Given the description of an element on the screen output the (x, y) to click on. 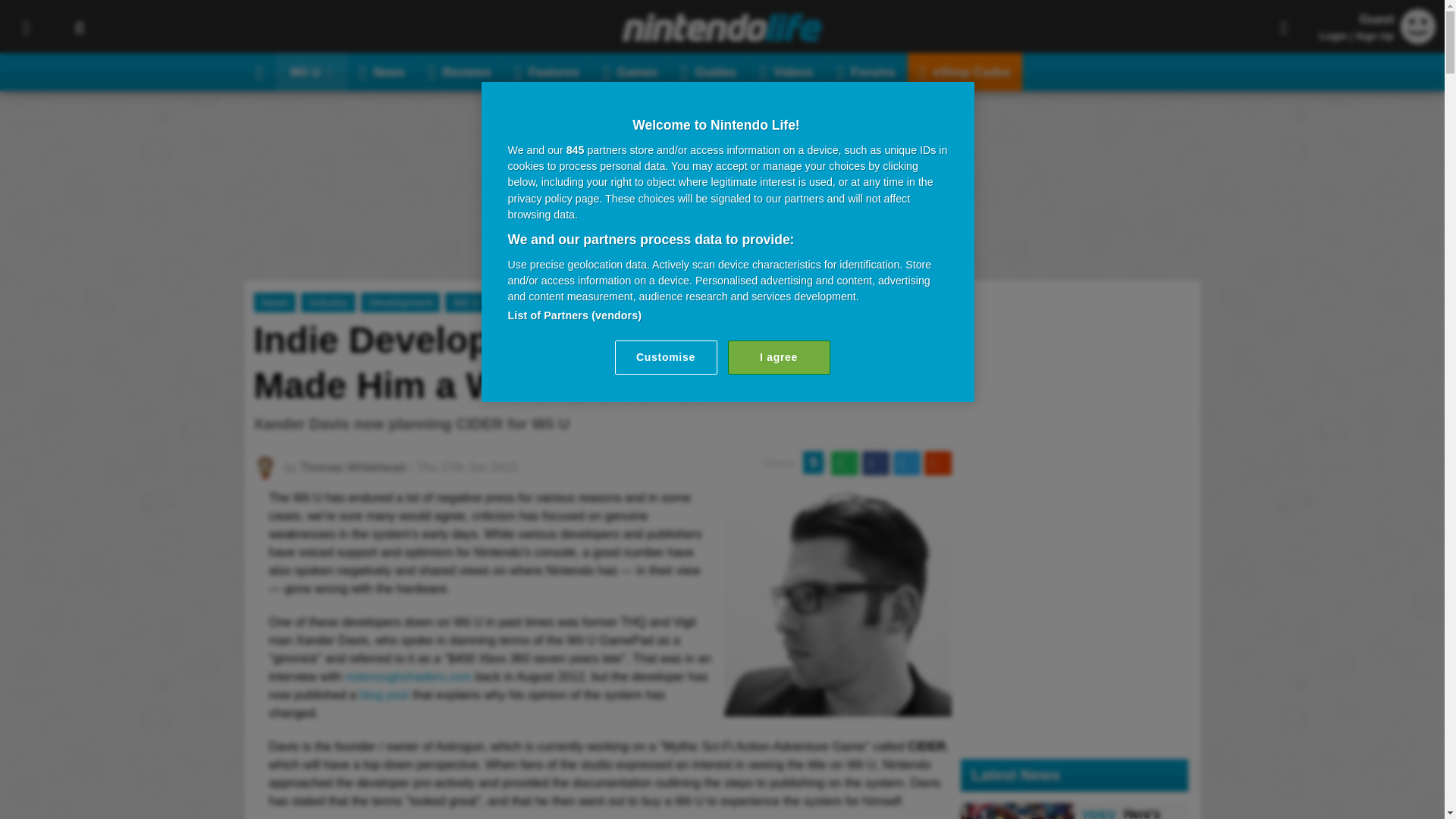
Videos (786, 71)
Guest (1417, 26)
Nintendo Life (721, 27)
Games (630, 71)
News (381, 71)
Topics (26, 26)
Share This Page (1283, 26)
Guest (1417, 39)
eShop Codes (964, 71)
Search (79, 26)
Sign Up (1374, 35)
Wii U (311, 71)
Nintendo Life (721, 27)
Login (1332, 35)
Guides (708, 71)
